Given the description of an element on the screen output the (x, y) to click on. 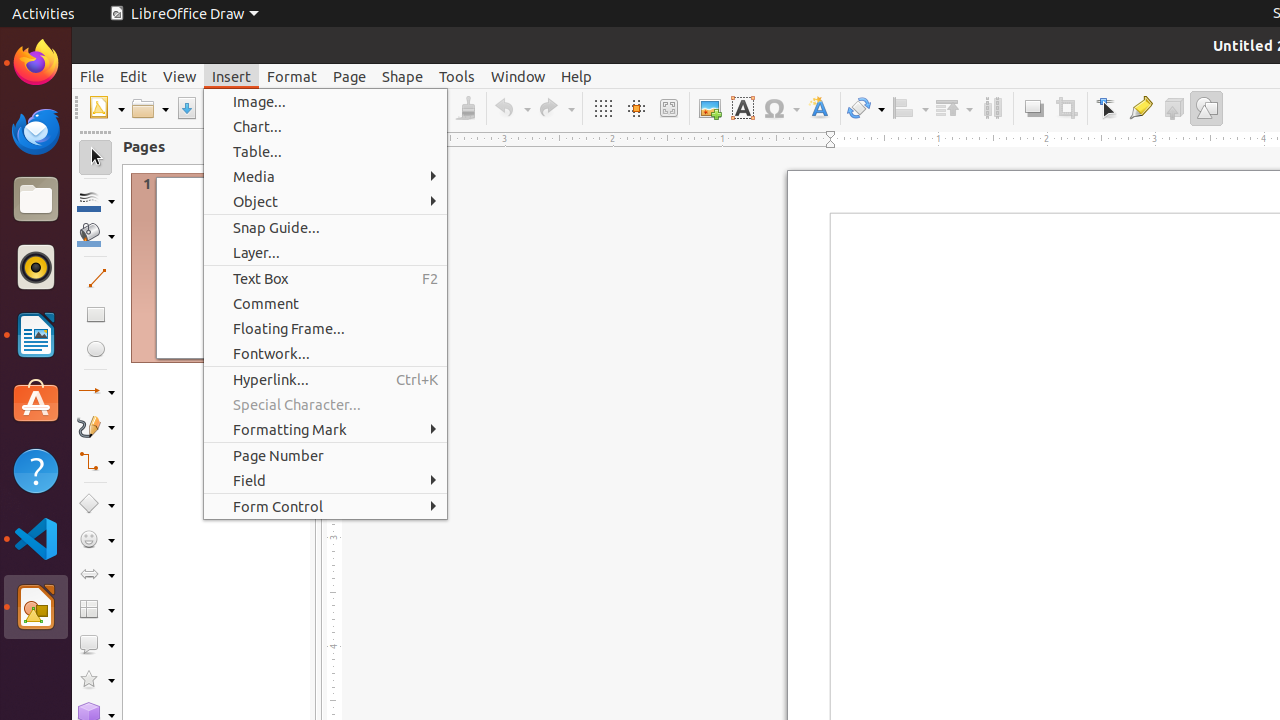
Table... Element type: menu-item (325, 151)
Basic Shapes Element type: push-button (96, 504)
Arrange Element type: push-button (954, 108)
Floating Frame... Element type: menu-item (325, 328)
Text Box Element type: menu-item (325, 278)
